Given the description of an element on the screen output the (x, y) to click on. 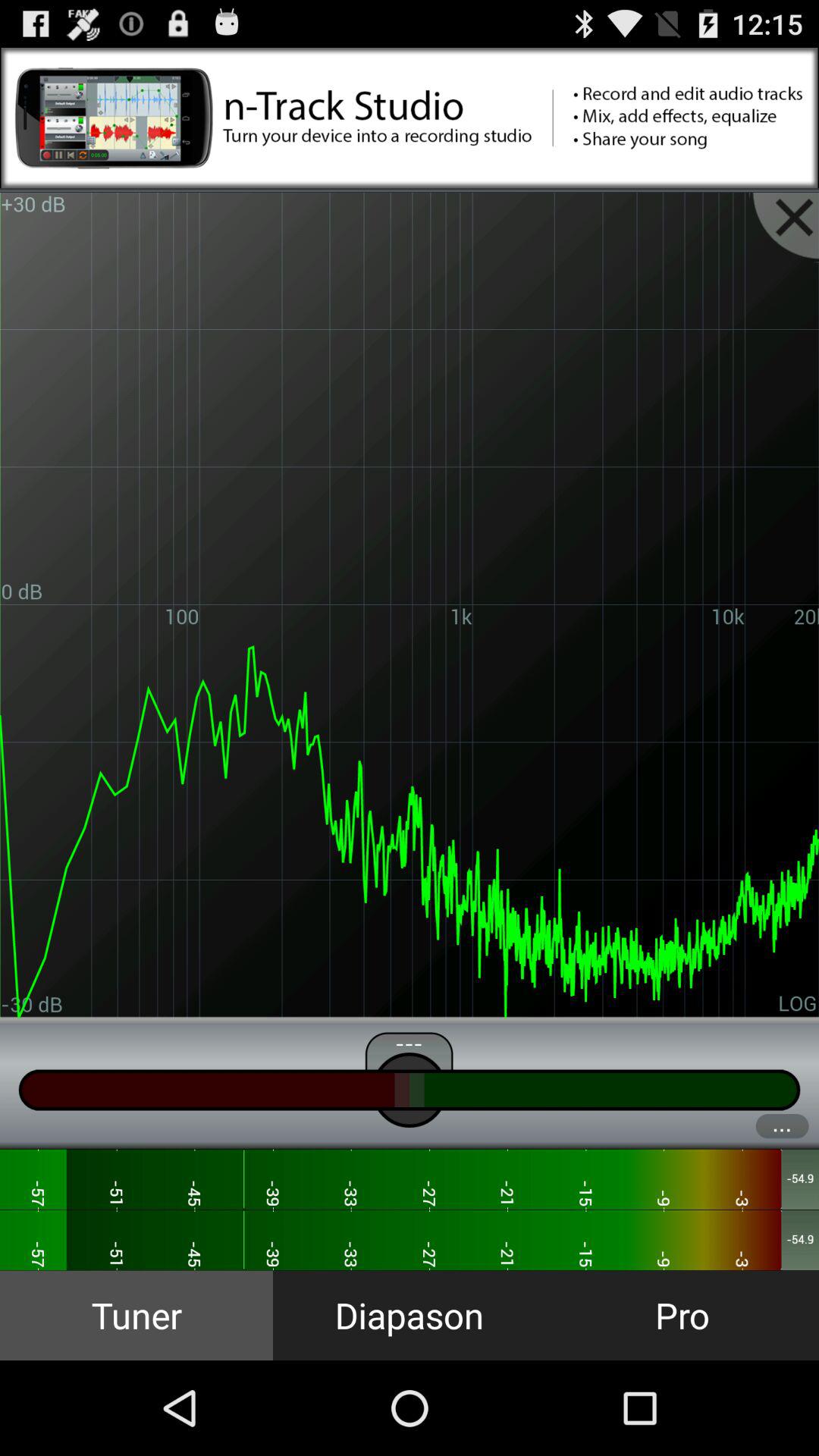
advertisements banner (409, 117)
